Given the description of an element on the screen output the (x, y) to click on. 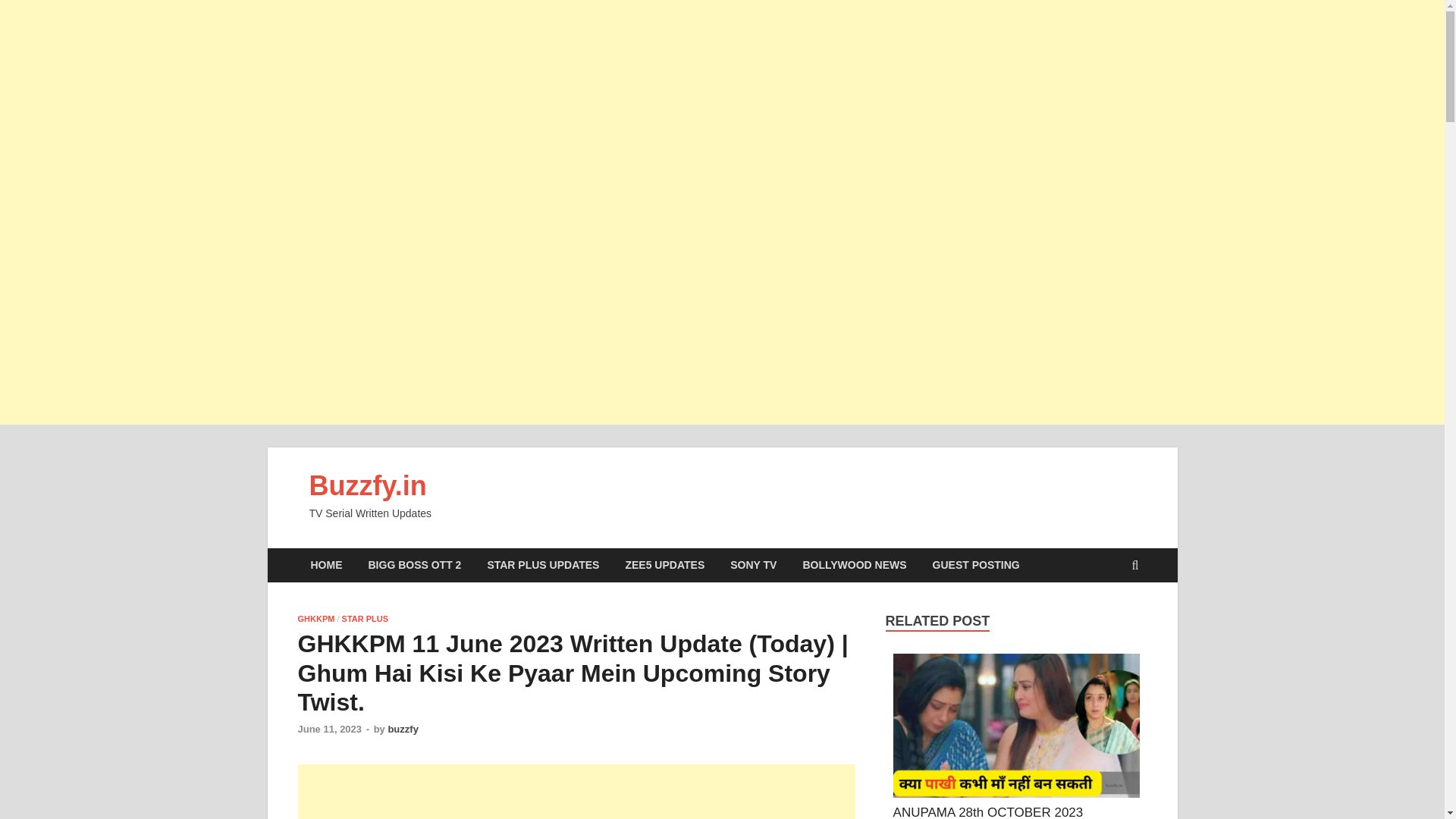
SONY TV (753, 564)
buzzfy (402, 728)
STAR PLUS (365, 618)
Advertisement (575, 791)
ZEE5 UPDATES (664, 564)
Buzzfy.in (367, 485)
June 11, 2023 (329, 728)
STAR PLUS UPDATES (542, 564)
HOME (326, 564)
BOLLYWOOD NEWS (853, 564)
GHKKPM (315, 618)
BIGG BOSS OTT 2 (414, 564)
GUEST POSTING (976, 564)
